Given the description of an element on the screen output the (x, y) to click on. 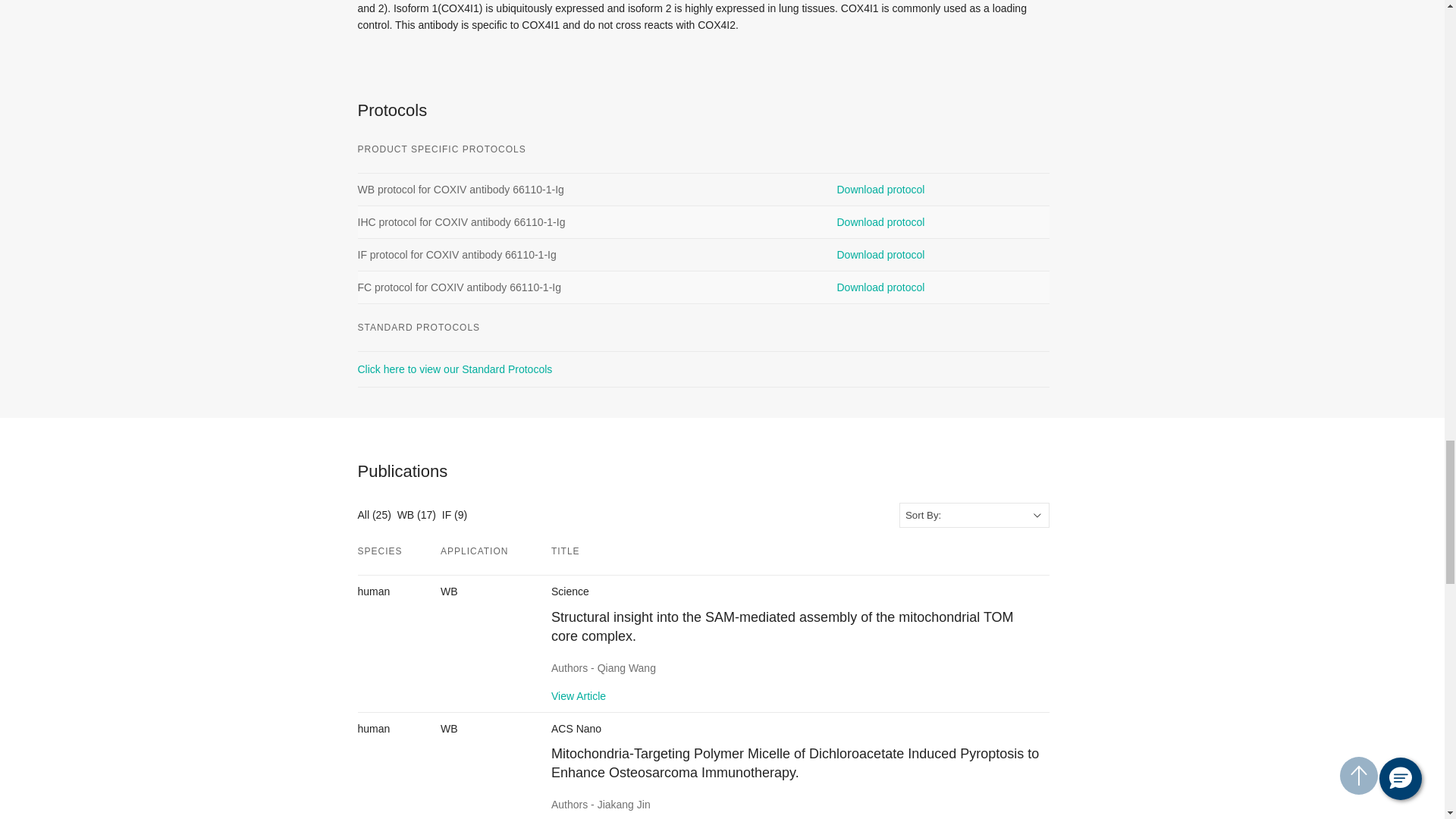
Sort By: (974, 514)
